Given the description of an element on the screen output the (x, y) to click on. 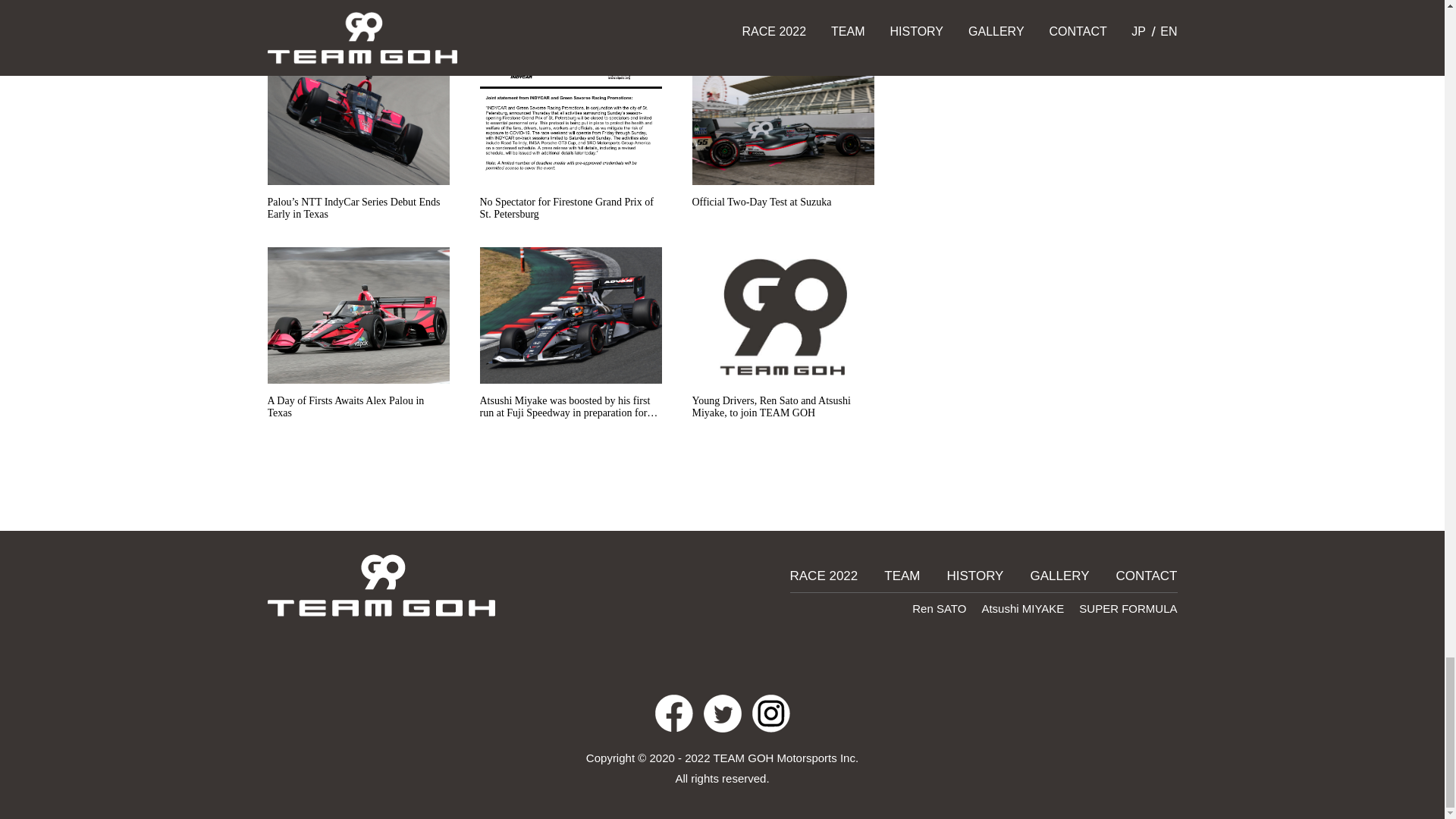
No Spectator for Firestone Grand Prix of St. Petersburg (570, 139)
Young Drivers, Ren Sato and Atsushi Miyake, to join TEAM GOH (782, 338)
Official Two-Day Test at Suzuka (782, 139)
A Day of Firsts Awaits Alex Palou in Texas (357, 338)
